Given the description of an element on the screen output the (x, y) to click on. 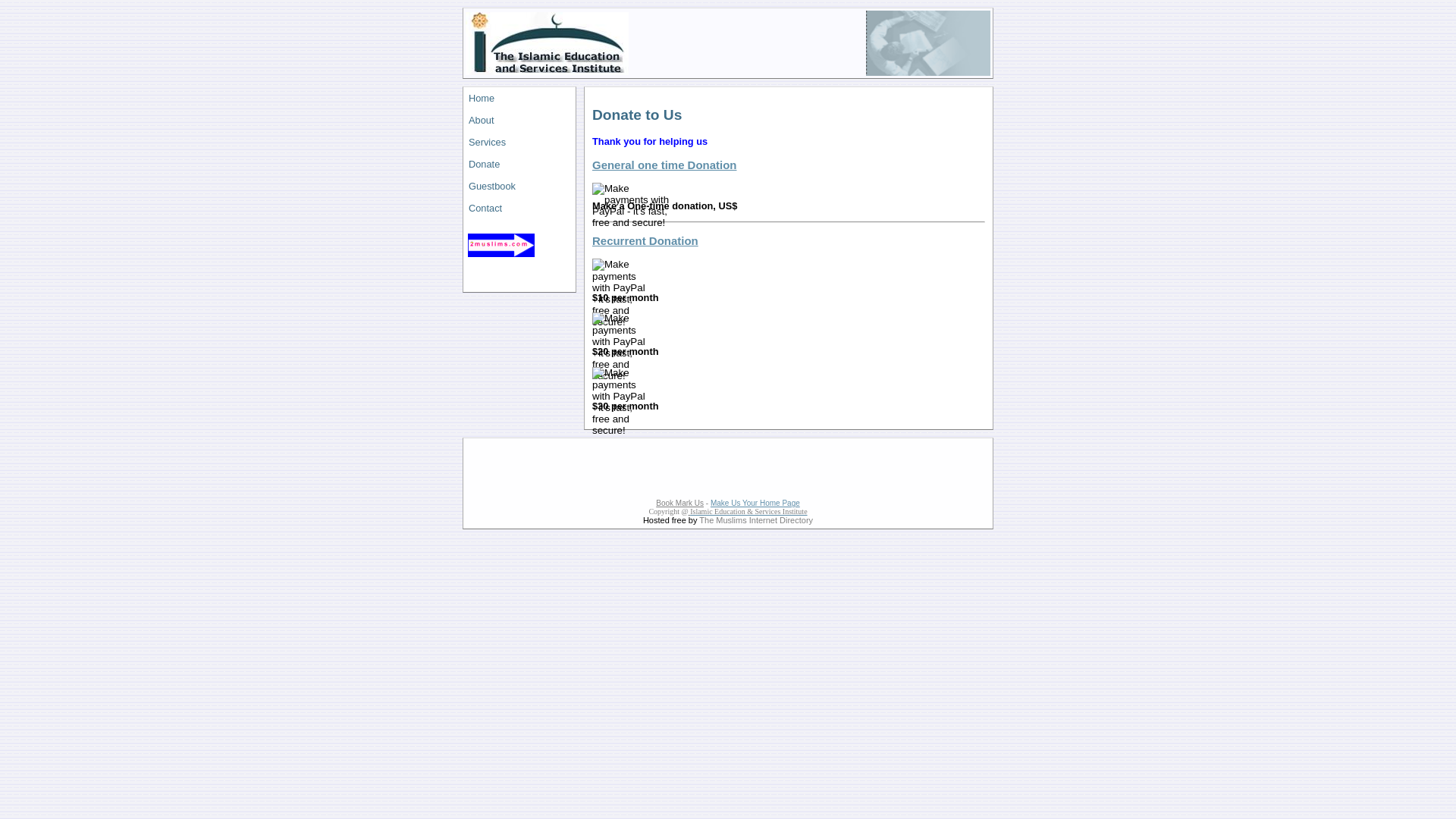
Contact Element type: text (519, 207)
General one time Donation Element type: text (664, 164)
Islamic Education & Services Institute Element type: text (747, 511)
Guestbook Element type: text (519, 185)
Advertisement Element type: hover (727, 464)
About Element type: text (519, 119)
Recurrent Donation Element type: text (645, 240)
Donate Element type: text (519, 163)
Services Element type: text (519, 141)
Make Us Your Home Page Element type: text (755, 502)
Home Element type: text (519, 97)
Book Mark Us Element type: text (679, 502)
The Muslims Internet Directory Element type: text (755, 519)
